Given the description of an element on the screen output the (x, y) to click on. 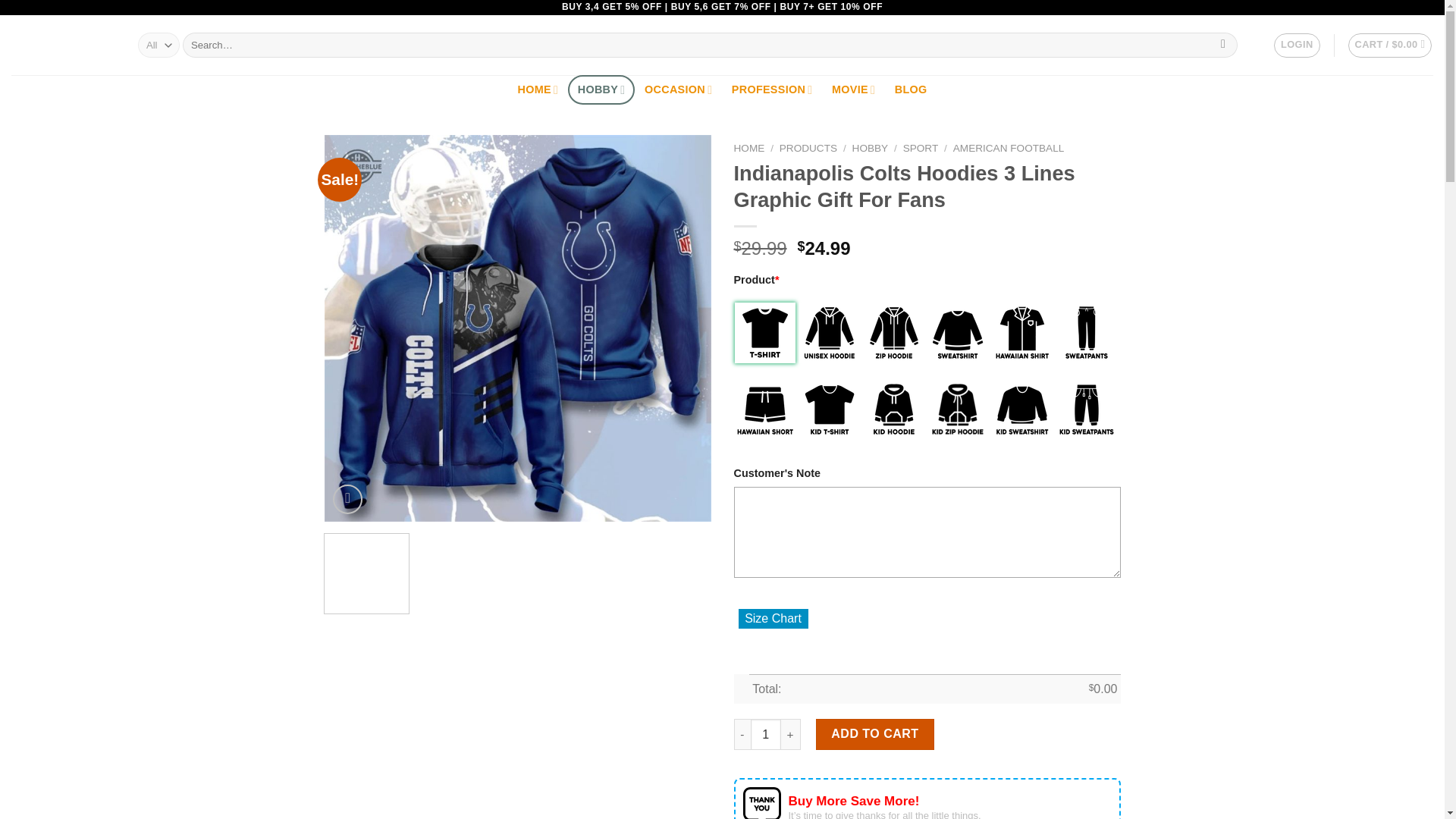
1 (765, 734)
Holatheblue - Just Your Style (63, 45)
LOGIN (1296, 45)
HOME (537, 89)
Zoom (347, 499)
HOBBY (600, 89)
Cart (1390, 45)
Search (1223, 45)
